Given the description of an element on the screen output the (x, y) to click on. 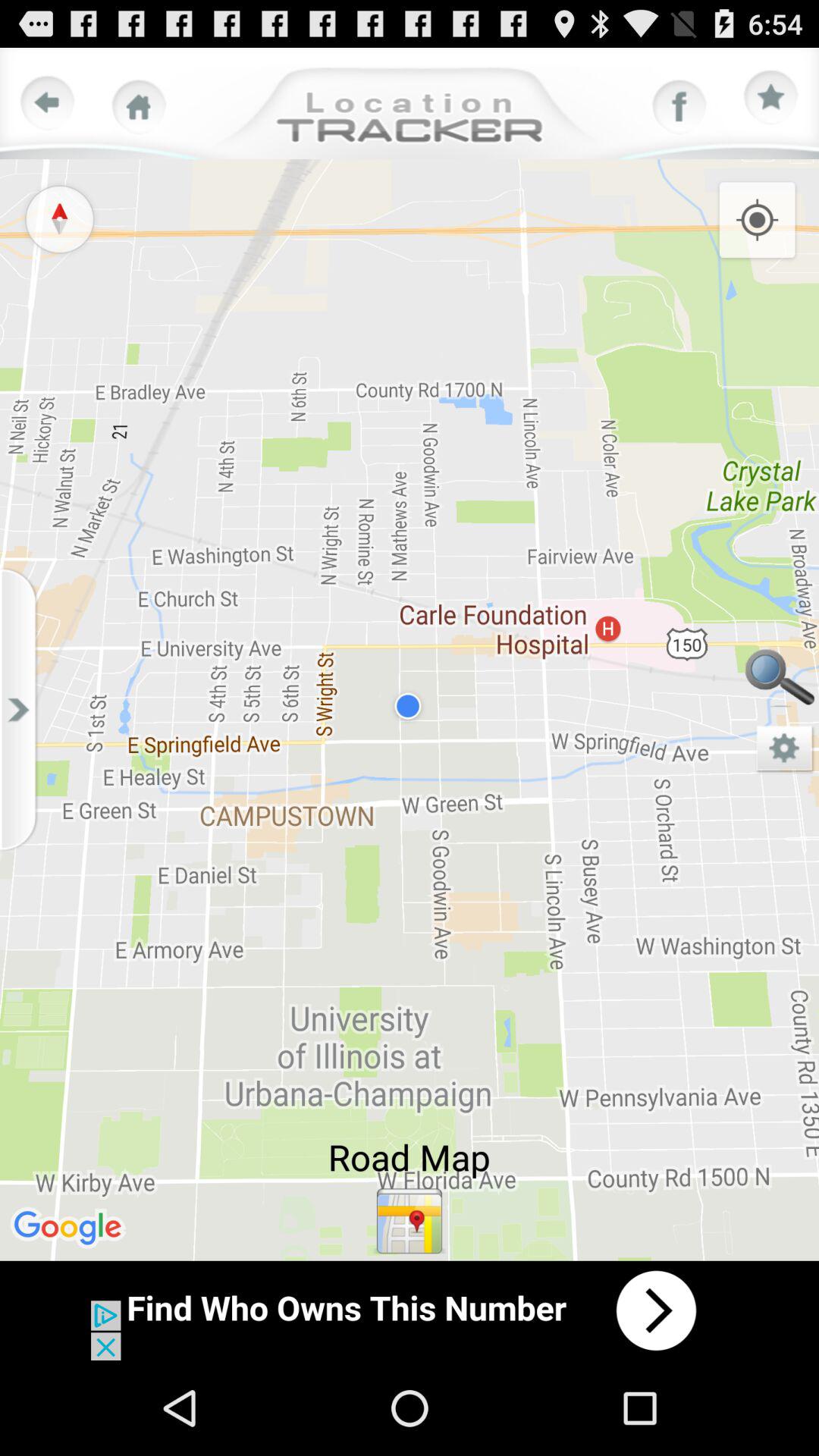
location map (409, 1220)
